Given the description of an element on the screen output the (x, y) to click on. 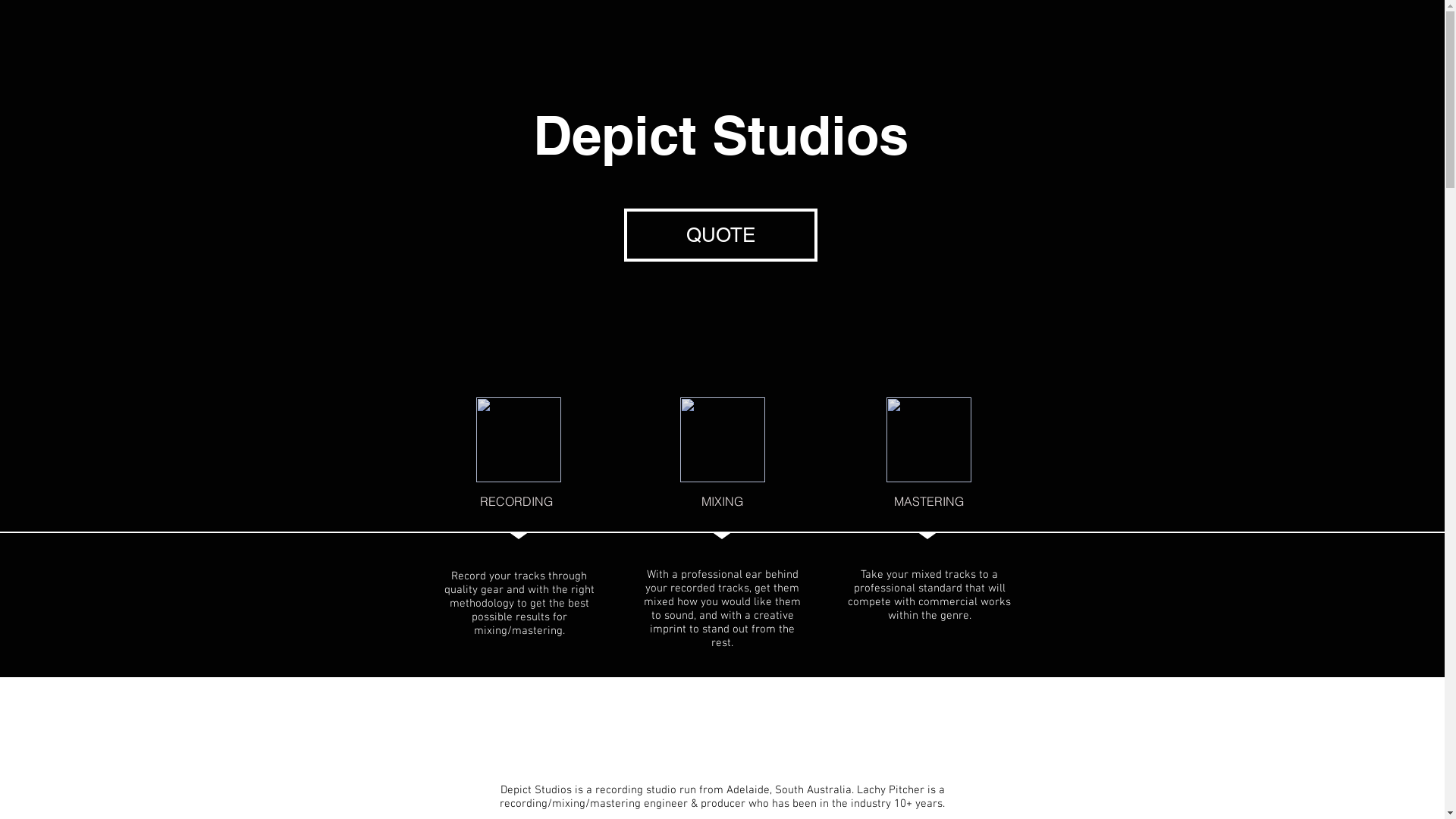
QUOTE Element type: text (719, 234)
